Given the description of an element on the screen output the (x, y) to click on. 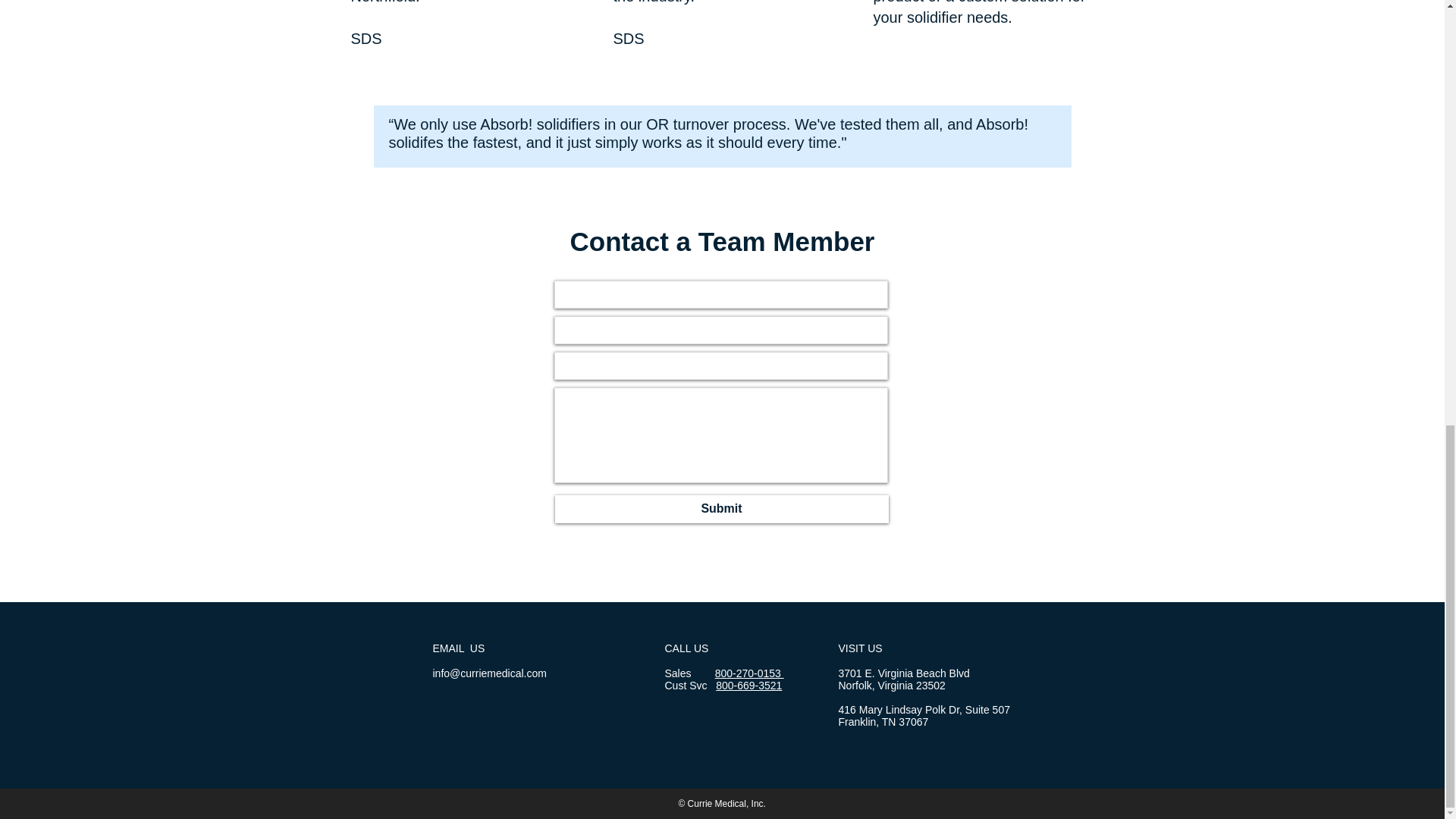
Submit (721, 509)
SDS (365, 38)
VISIT US (860, 648)
EMAIL  US (458, 648)
SDS (627, 38)
CALL US (685, 648)
800-669-3521 (748, 685)
800-270-0153  (749, 673)
